Given the description of an element on the screen output the (x, y) to click on. 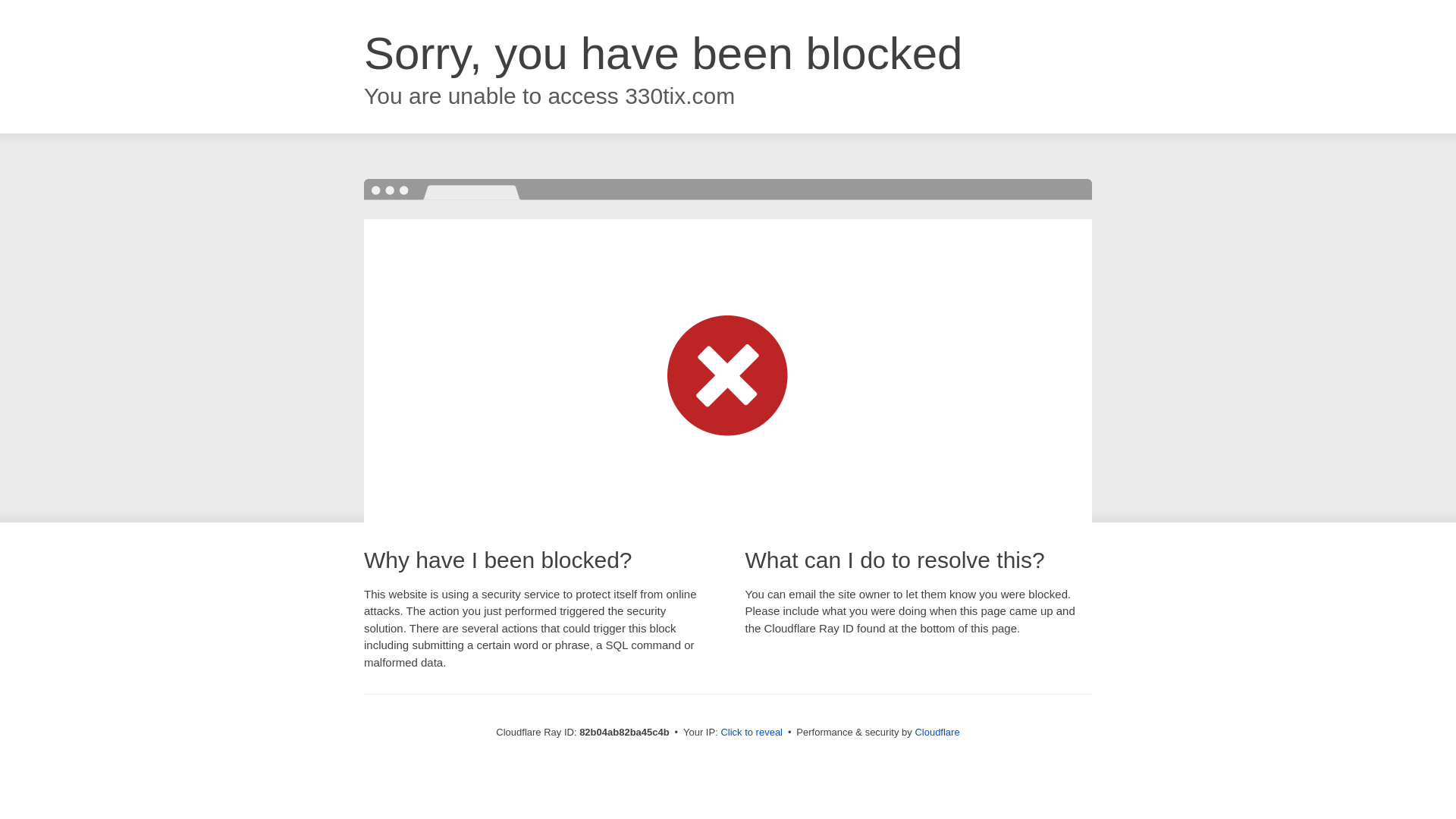
Cloudflare Element type: text (936, 731)
Click to reveal Element type: text (751, 732)
